Given the description of an element on the screen output the (x, y) to click on. 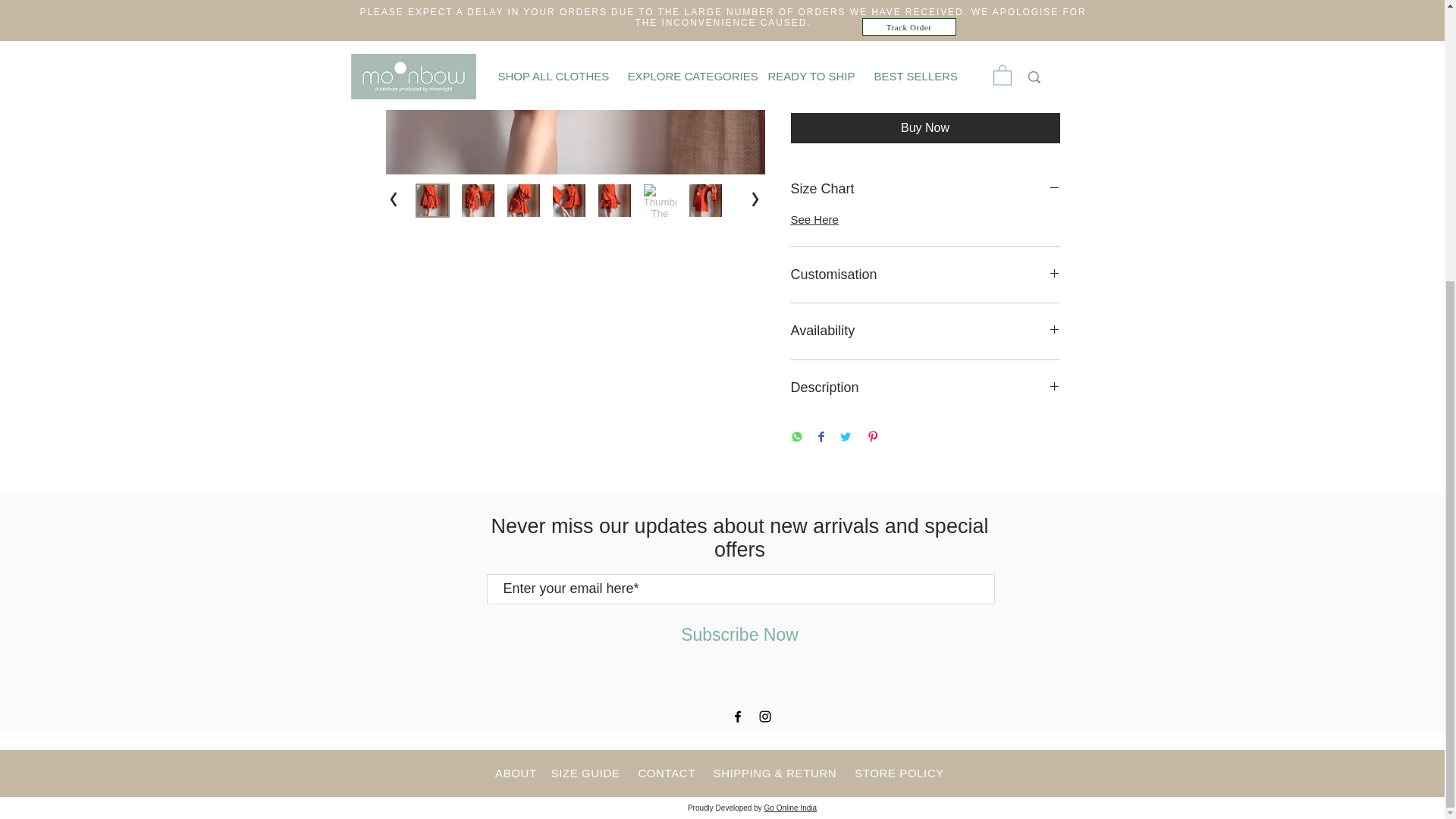
Customisation (924, 274)
See Here (814, 219)
Availability (924, 330)
Size Chart (924, 189)
Buy Now (924, 128)
1 (818, 30)
Description (924, 387)
Add to Cart (905, 87)
